Given the description of an element on the screen output the (x, y) to click on. 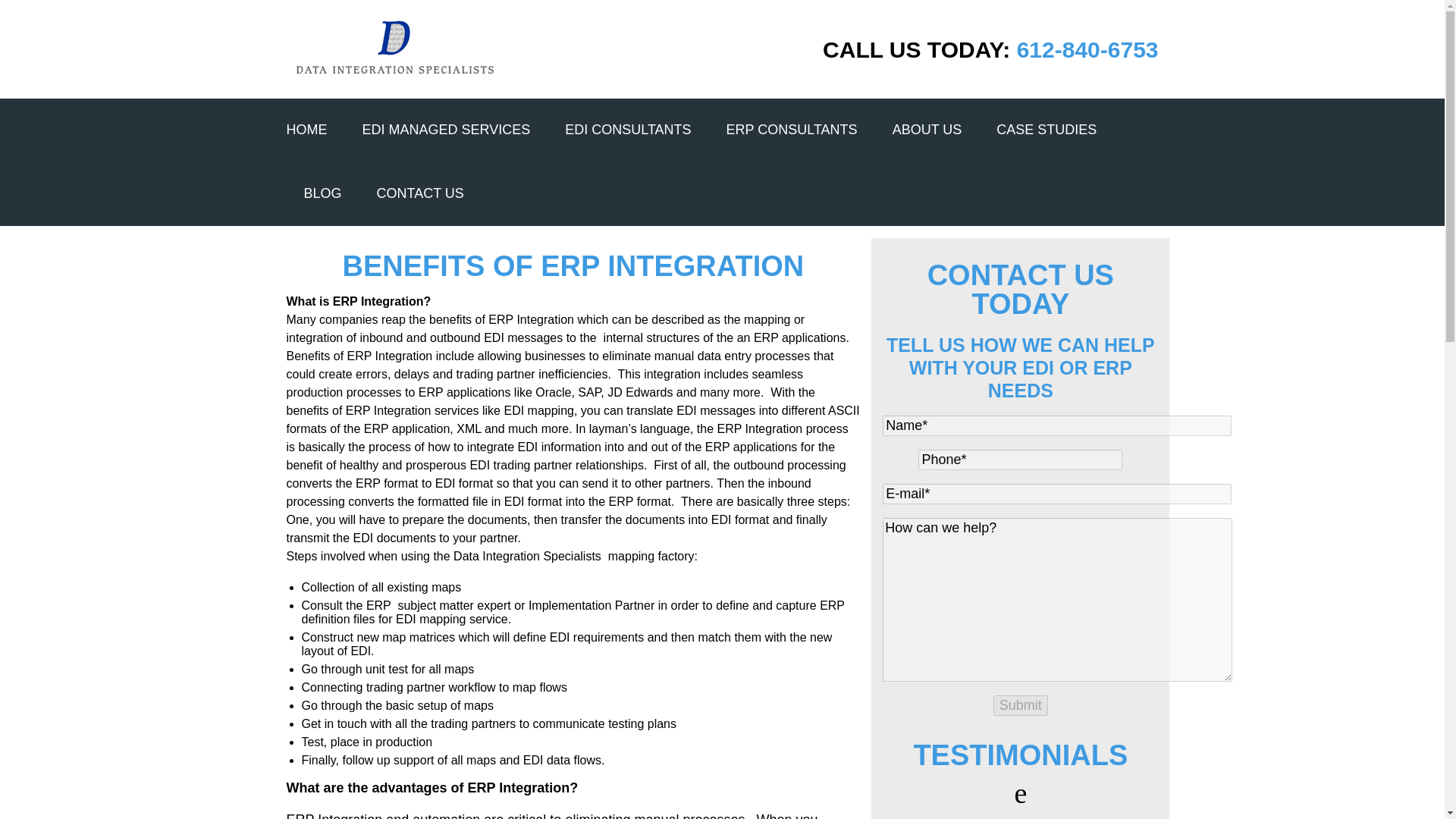
612-840-6753 (1087, 48)
CONTACT US (420, 192)
HOME (306, 129)
EDI MANAGED SERVICES (446, 129)
ERP CONSULTANTS (791, 129)
Data Integration Specialists, LLC (393, 49)
Submit (1020, 705)
BLOG (321, 192)
ABOUT US (927, 129)
Submit (1020, 705)
EDI CONSULTANTS (627, 129)
CASE STUDIES (1045, 129)
